Given the description of an element on the screen output the (x, y) to click on. 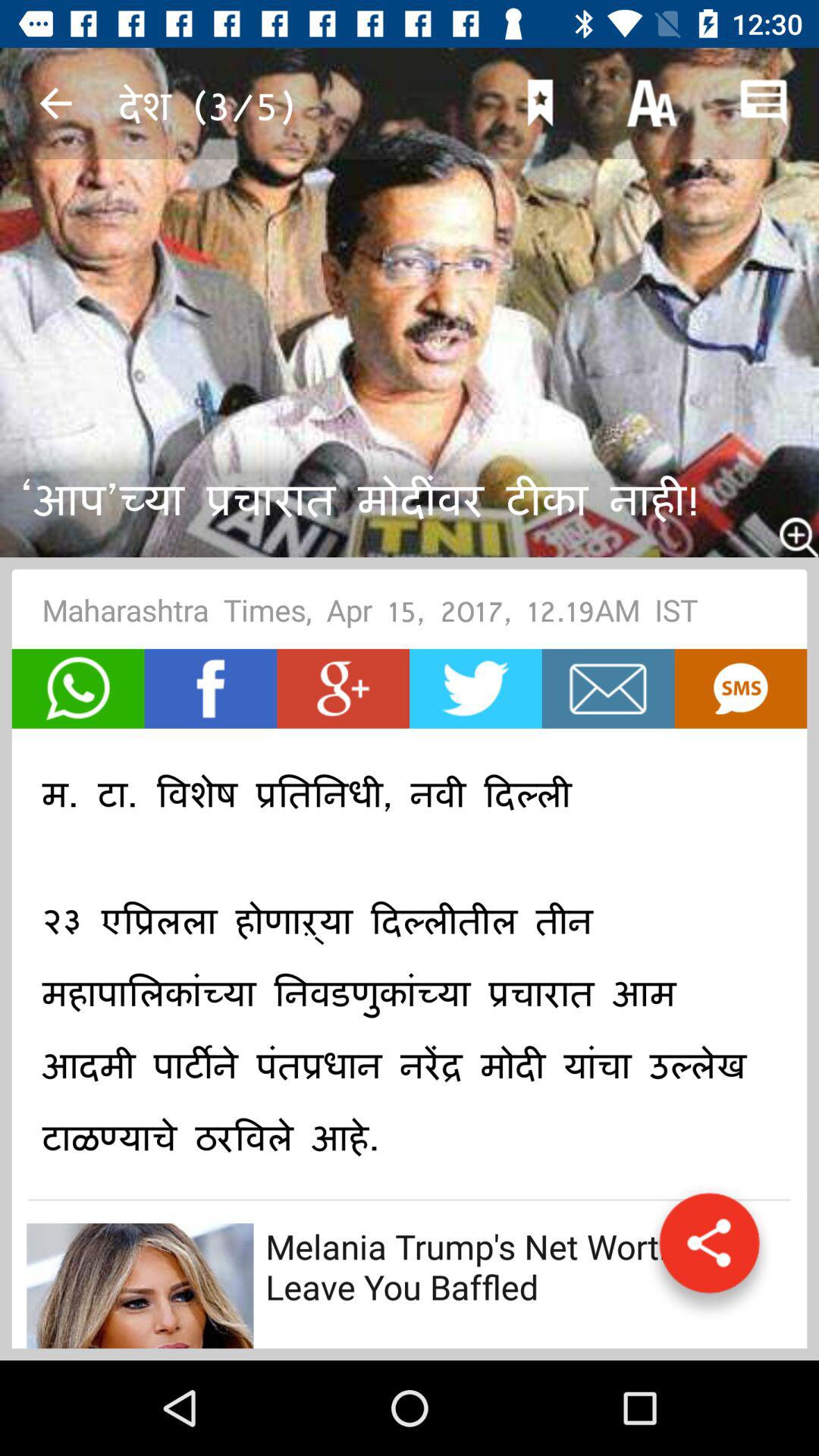
share by sms (740, 688)
